Given the description of an element on the screen output the (x, y) to click on. 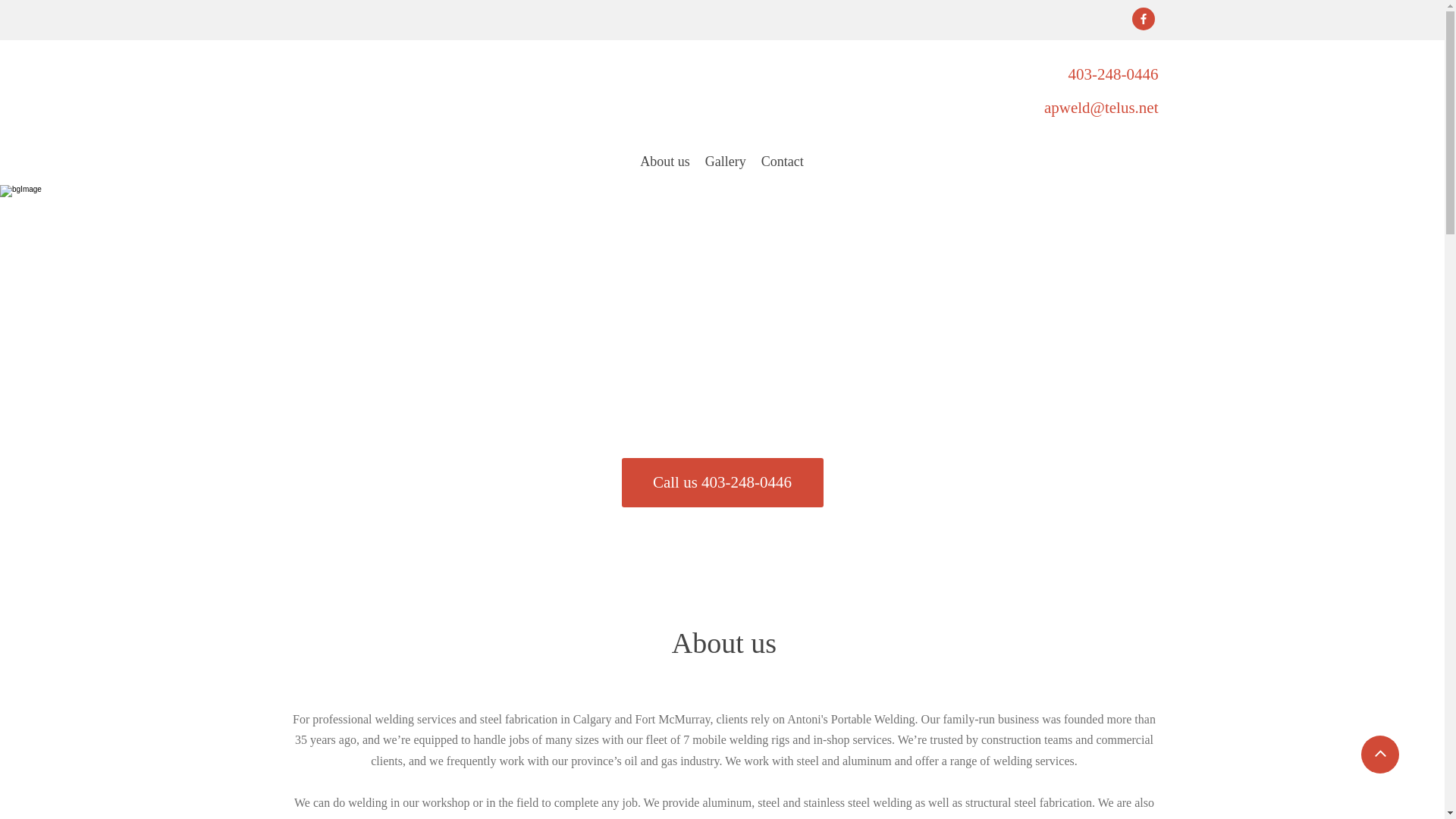
Gallery Element type: text (725, 167)
Call us 403-248-0446 Element type: text (722, 482)
apweld@telus.net Element type: text (1101, 107)
About us Element type: text (664, 167)
Contact Element type: text (782, 167)
403-248-0446 Element type: text (1112, 74)
